Given the description of an element on the screen output the (x, y) to click on. 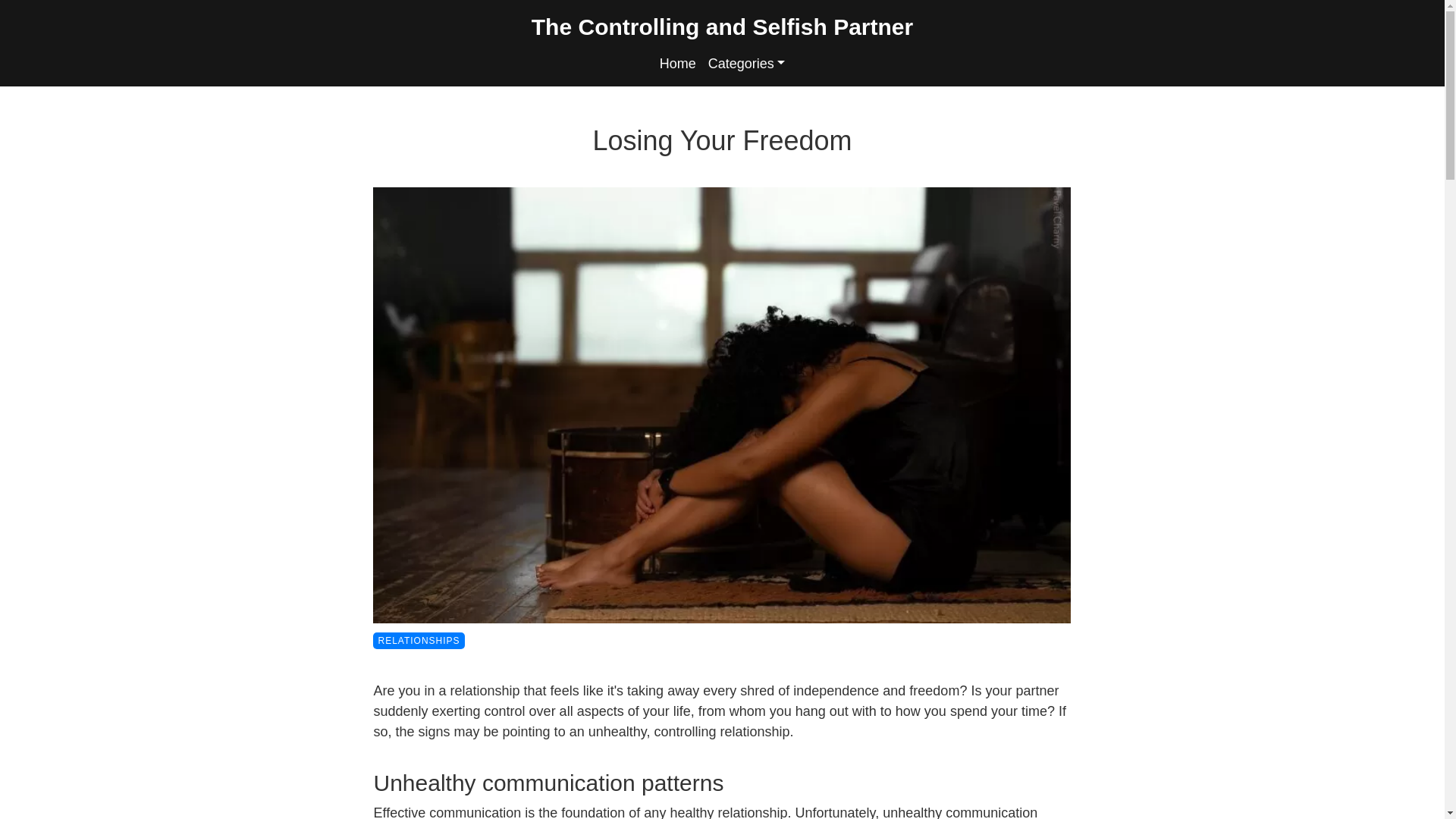
The Controlling and Selfish Partner (721, 26)
Categories (746, 63)
RELATIONSHIPS (418, 640)
Home (677, 63)
